Given the description of an element on the screen output the (x, y) to click on. 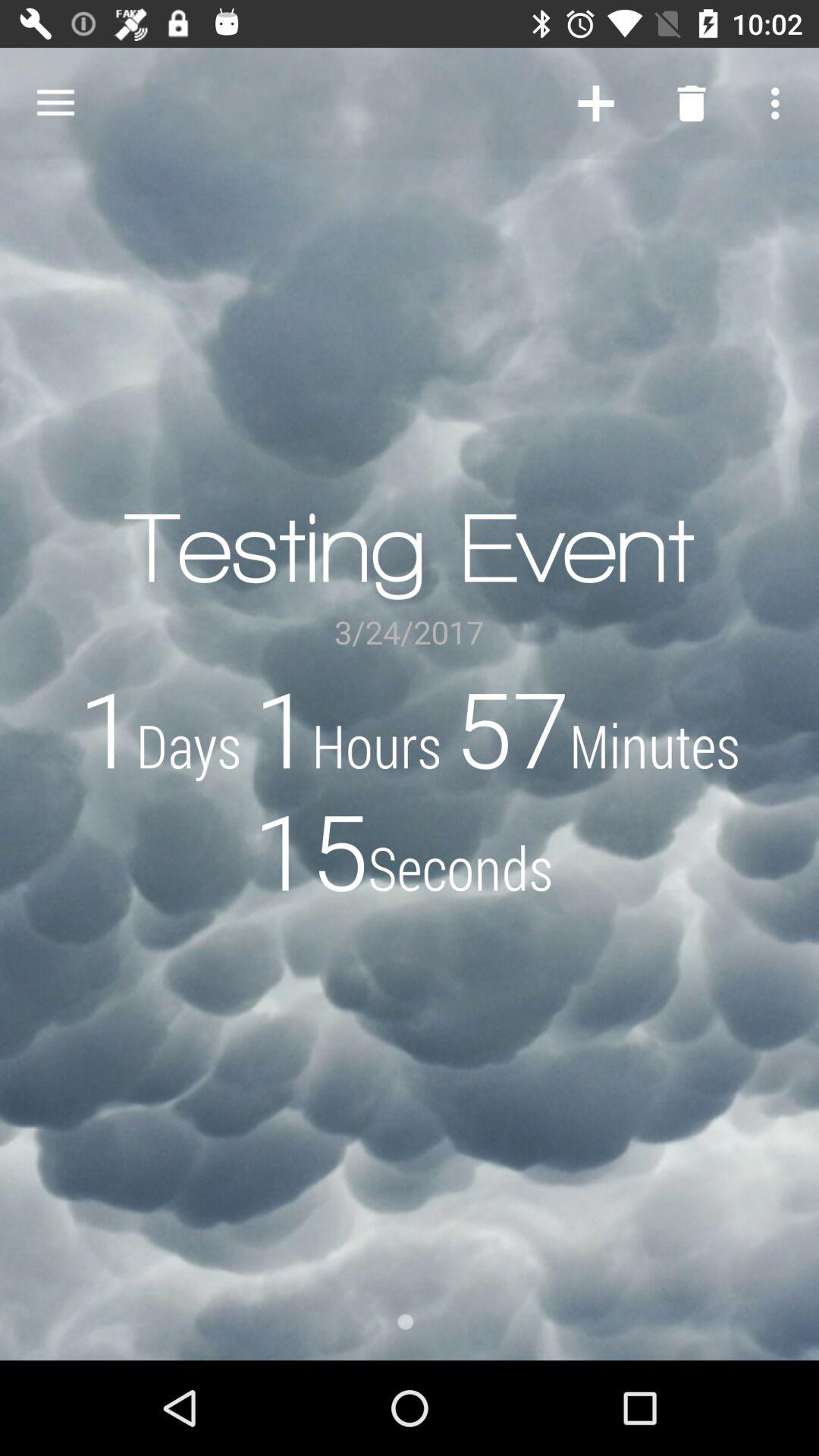
launch the item above the testing event item (595, 103)
